Given the description of an element on the screen output the (x, y) to click on. 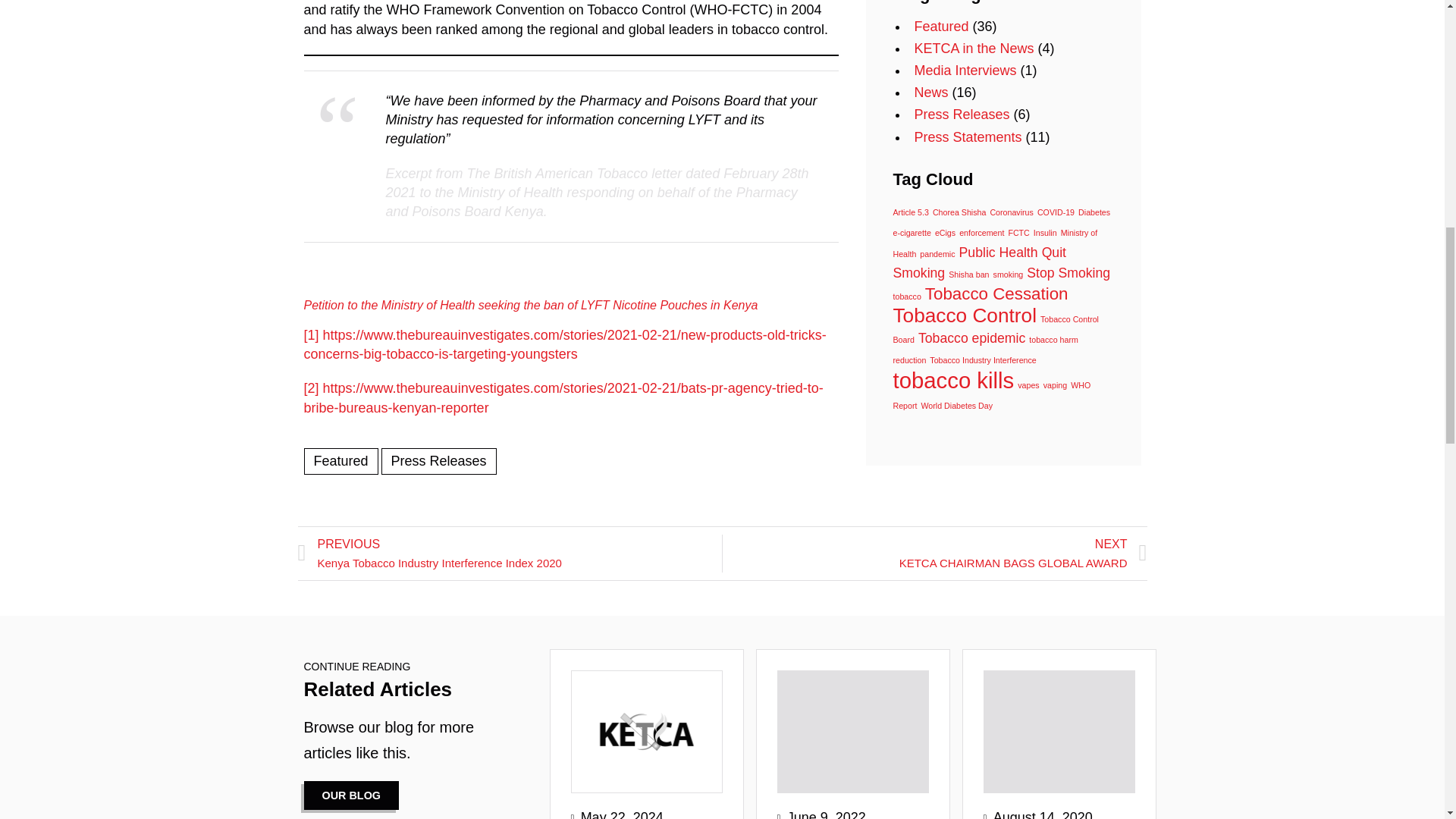
KETCA in the News (973, 48)
Press Releases (962, 114)
Featured (339, 461)
FCTC (1018, 232)
Coronavirus (1011, 212)
Chorea Shisha (960, 212)
e-cigarette (912, 232)
COVID-19 (1055, 212)
Featured (941, 26)
